Given the description of an element on the screen output the (x, y) to click on. 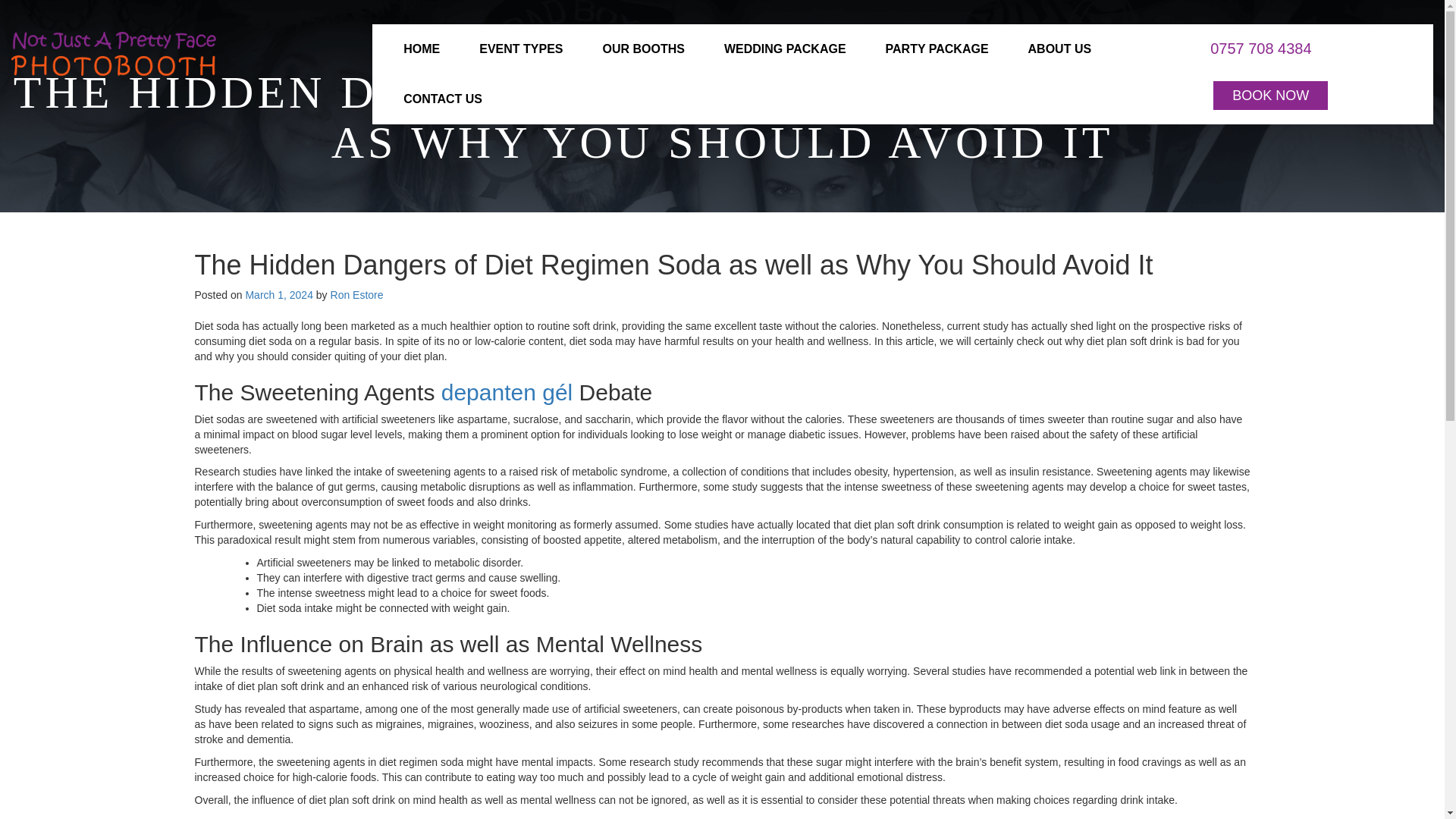
OUR BOOTHS (642, 49)
PARTY PACKAGE (937, 49)
EVENT TYPES (521, 49)
March 1, 2024 (278, 295)
HOME (422, 49)
0757 708 4384 (1260, 47)
Ron Estore (357, 295)
BOOK NOW (1269, 95)
CONTACT US (443, 99)
ABOUT US (1060, 49)
WEDDING PACKAGE (785, 49)
